Given the description of an element on the screen output the (x, y) to click on. 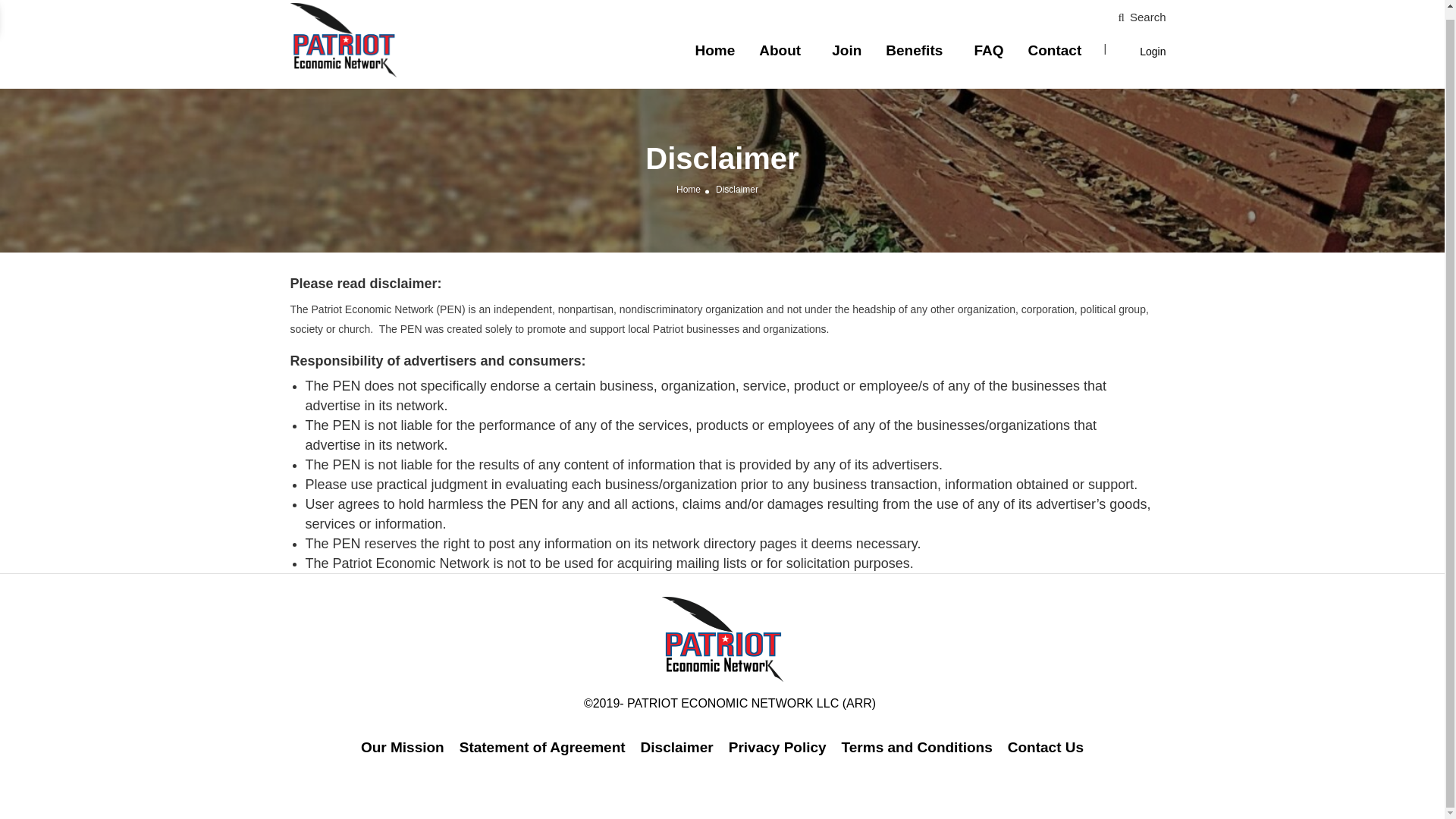
FAQ (988, 50)
Statement of Agreement (543, 747)
Benefits (913, 50)
About (779, 50)
Our Mission (402, 747)
Home (714, 50)
Sign in (721, 455)
Contact (1054, 50)
Home (688, 188)
Login (1153, 51)
Join (846, 50)
